Given the description of an element on the screen output the (x, y) to click on. 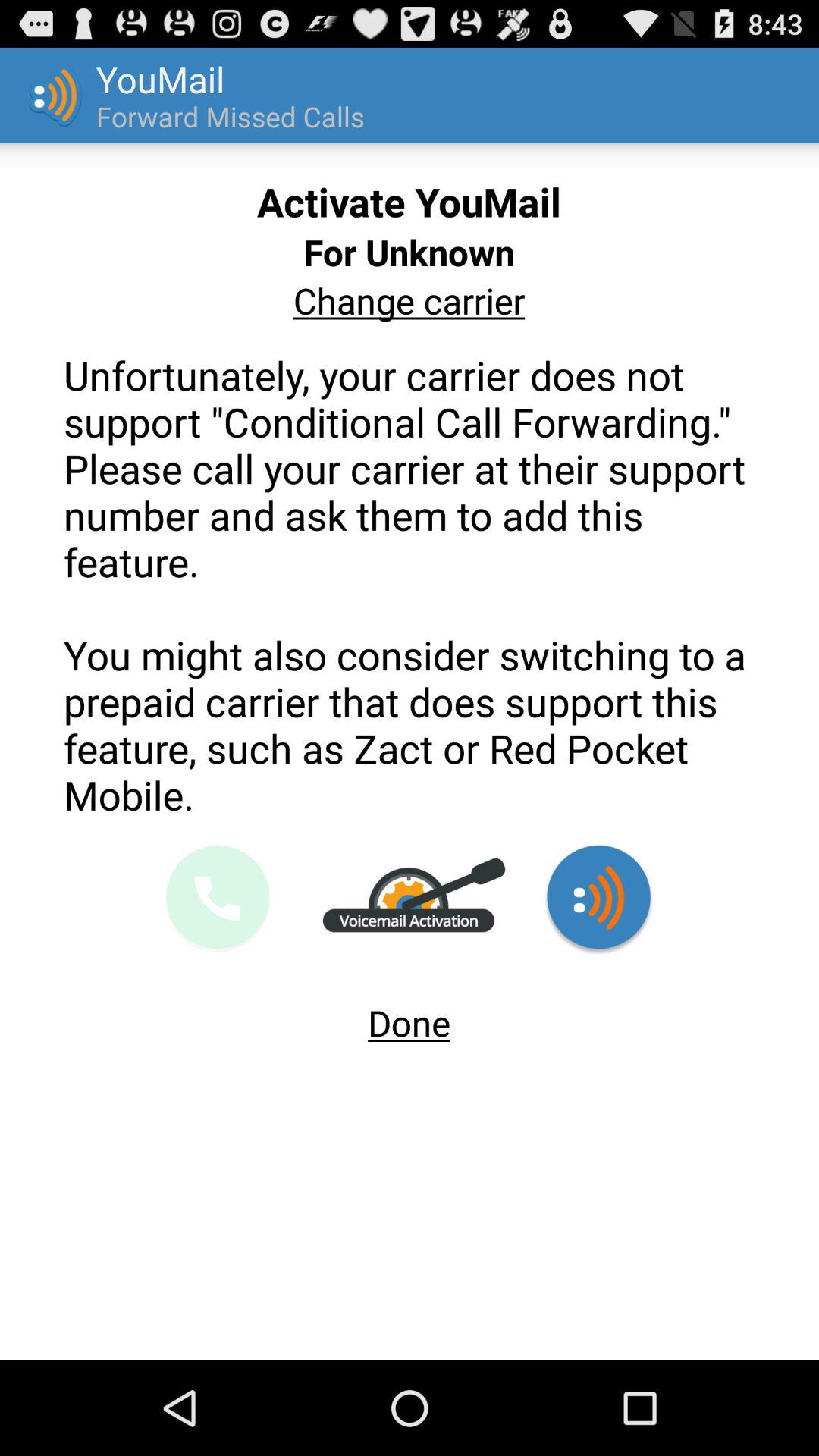
open item above unfortunately your carrier item (409, 300)
